Given the description of an element on the screen output the (x, y) to click on. 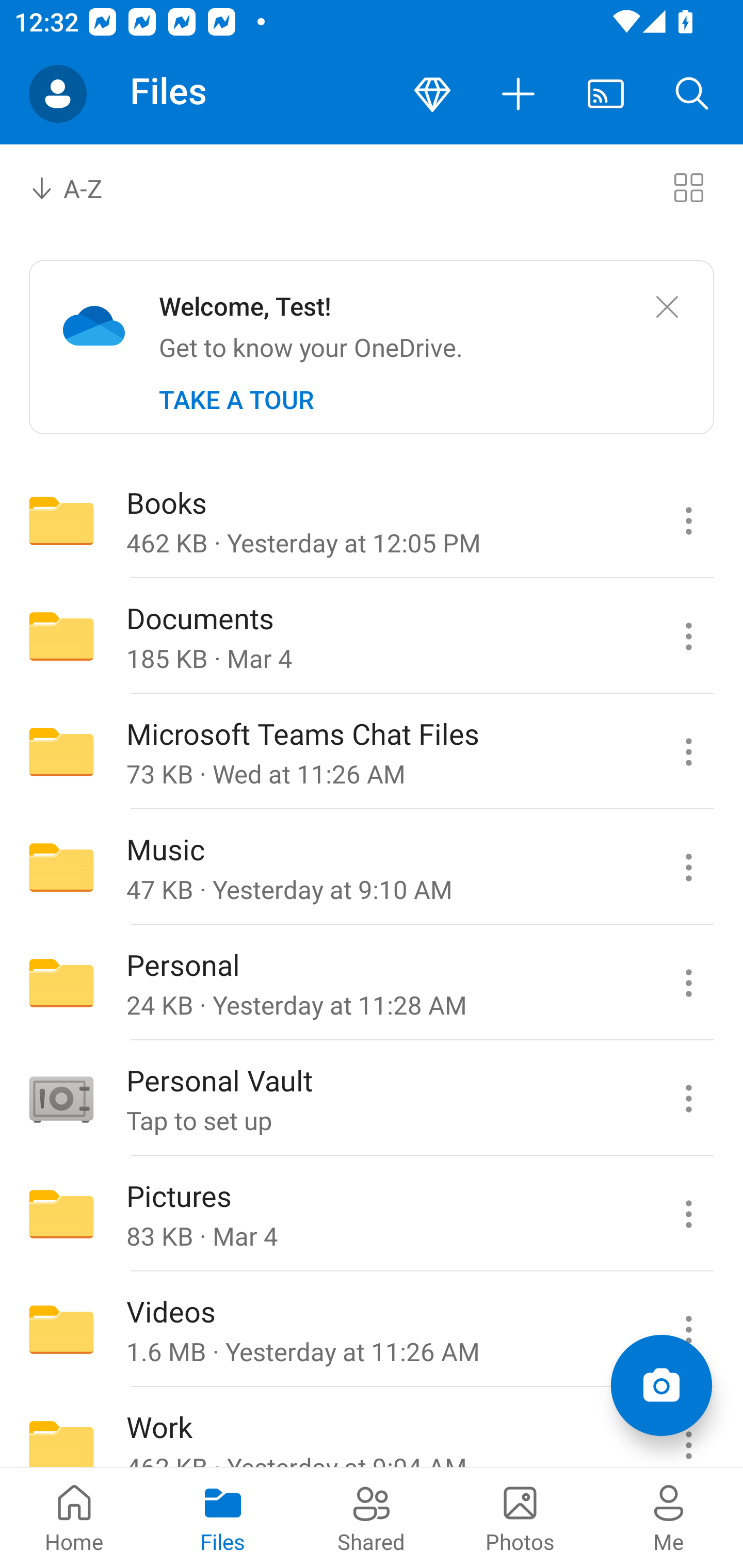
Account switcher (57, 93)
Cast. Disconnected (605, 93)
Premium button (432, 93)
More actions button (518, 93)
Search button (692, 93)
A-Z Sort by combo box, sort by name, A to Z (80, 187)
Switch to tiles view (688, 187)
Close (667, 307)
TAKE A TOUR (236, 399)
Books commands (688, 520)
Folder Documents 185 KB · Mar 4 Documents commands (371, 636)
Documents commands (688, 636)
Microsoft Teams Chat Files commands (688, 751)
Music commands (688, 867)
Personal commands (688, 983)
Personal Vault commands (688, 1099)
Folder Pictures 83 KB · Mar 4 Pictures commands (371, 1214)
Pictures commands (688, 1214)
Videos commands (688, 1329)
Add items Scan (660, 1385)
Work commands (688, 1427)
Home pivot Home (74, 1517)
Shared pivot Shared (371, 1517)
Photos pivot Photos (519, 1517)
Me pivot Me (668, 1517)
